Given the description of an element on the screen output the (x, y) to click on. 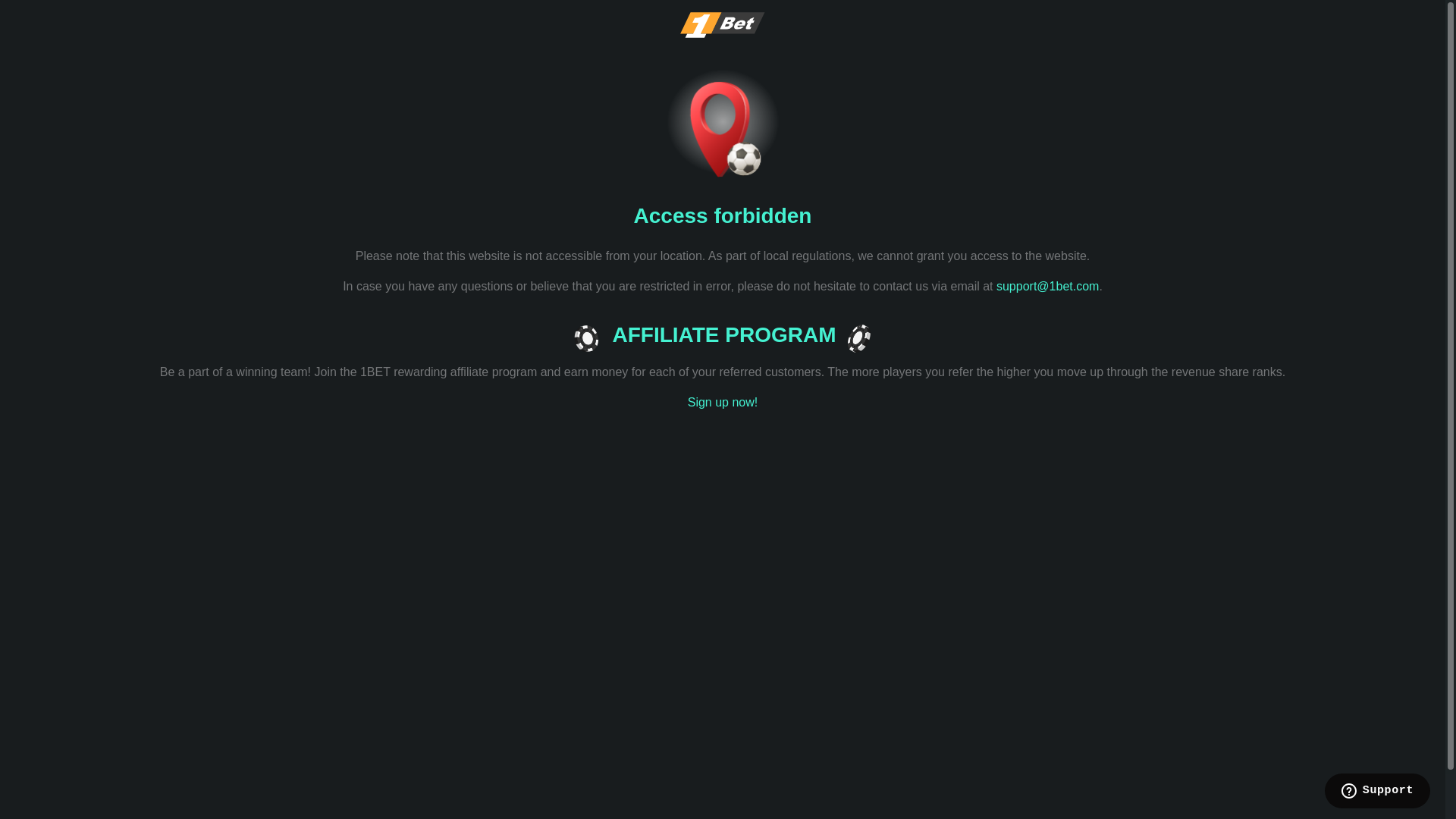
support@1bet.com Element type: text (1047, 285)
Sign up now! Element type: text (722, 402)
Opens a widget where you can find more information Element type: hover (1377, 792)
